Given the description of an element on the screen output the (x, y) to click on. 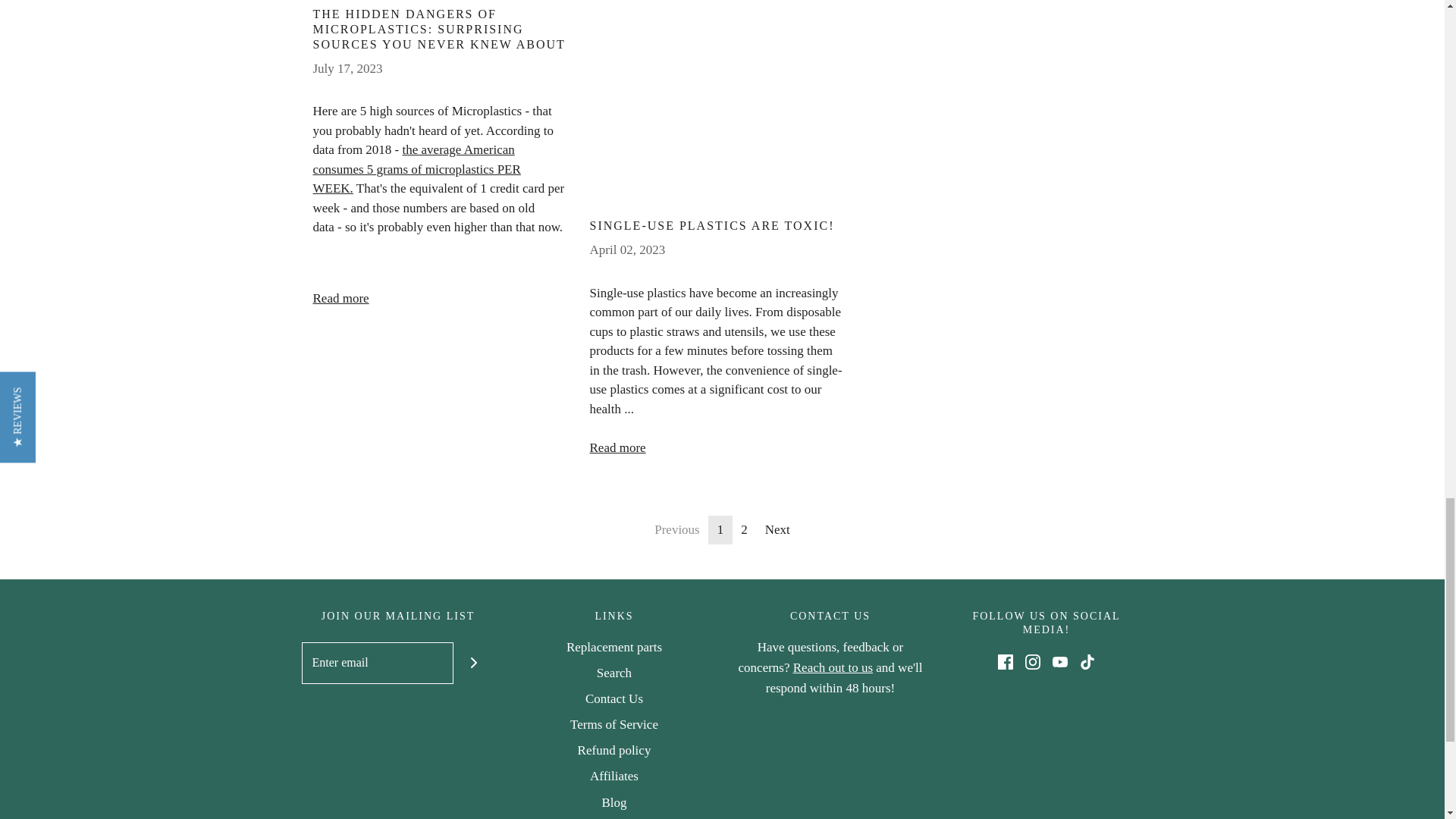
YouTube icon (1059, 661)
View Post (716, 101)
Facebook icon (1005, 661)
TikTok icon (1087, 661)
5 grams of microplastics per week (416, 168)
Instagram icon (1033, 661)
